Given the description of an element on the screen output the (x, y) to click on. 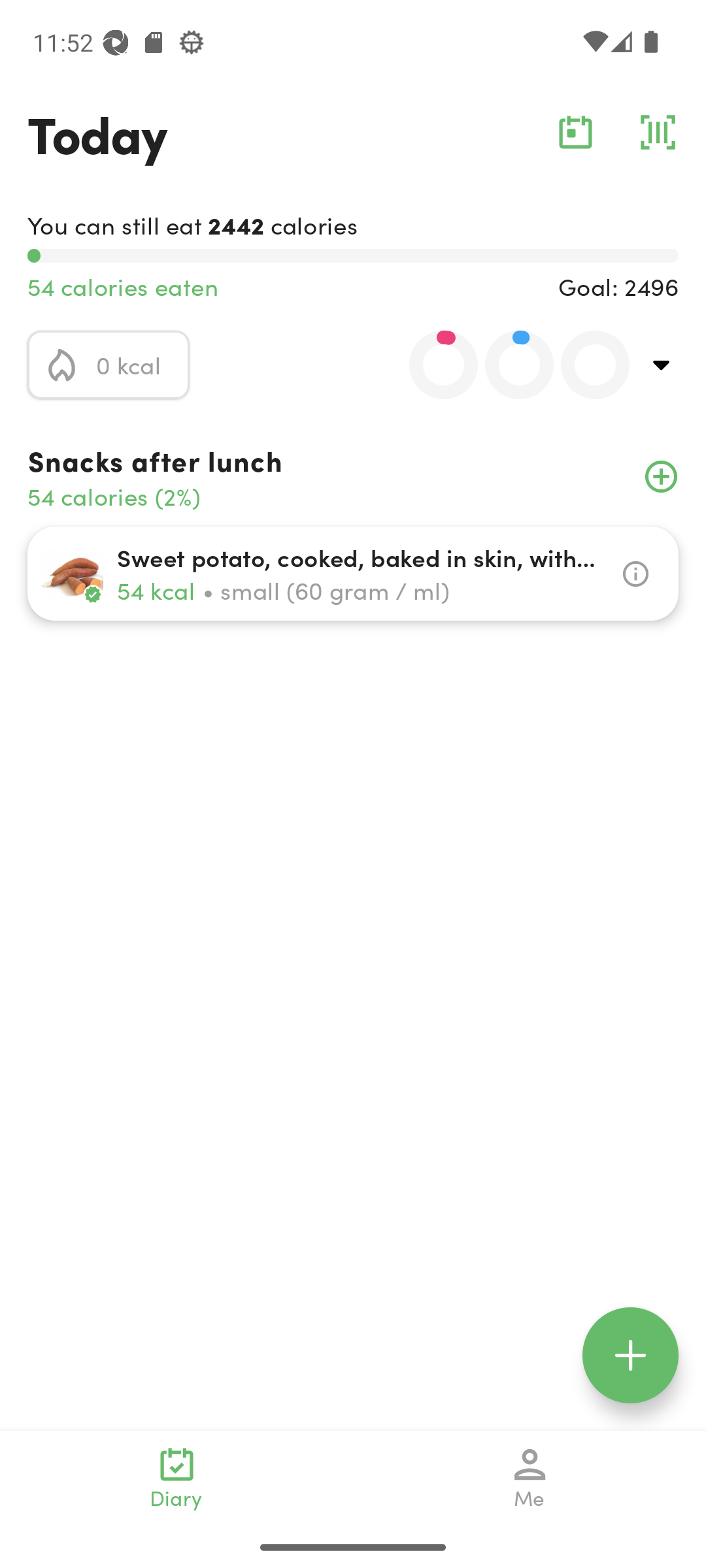
calendar_action (575, 132)
barcode_action (658, 132)
calorie_icon 0 kcal (108, 365)
0.03 0.02 0.0 (508, 365)
top_right_action (661, 365)
info_icon (636, 573)
floating_action_icon (630, 1355)
Me navigation_icon (529, 1478)
